Given the description of an element on the screen output the (x, y) to click on. 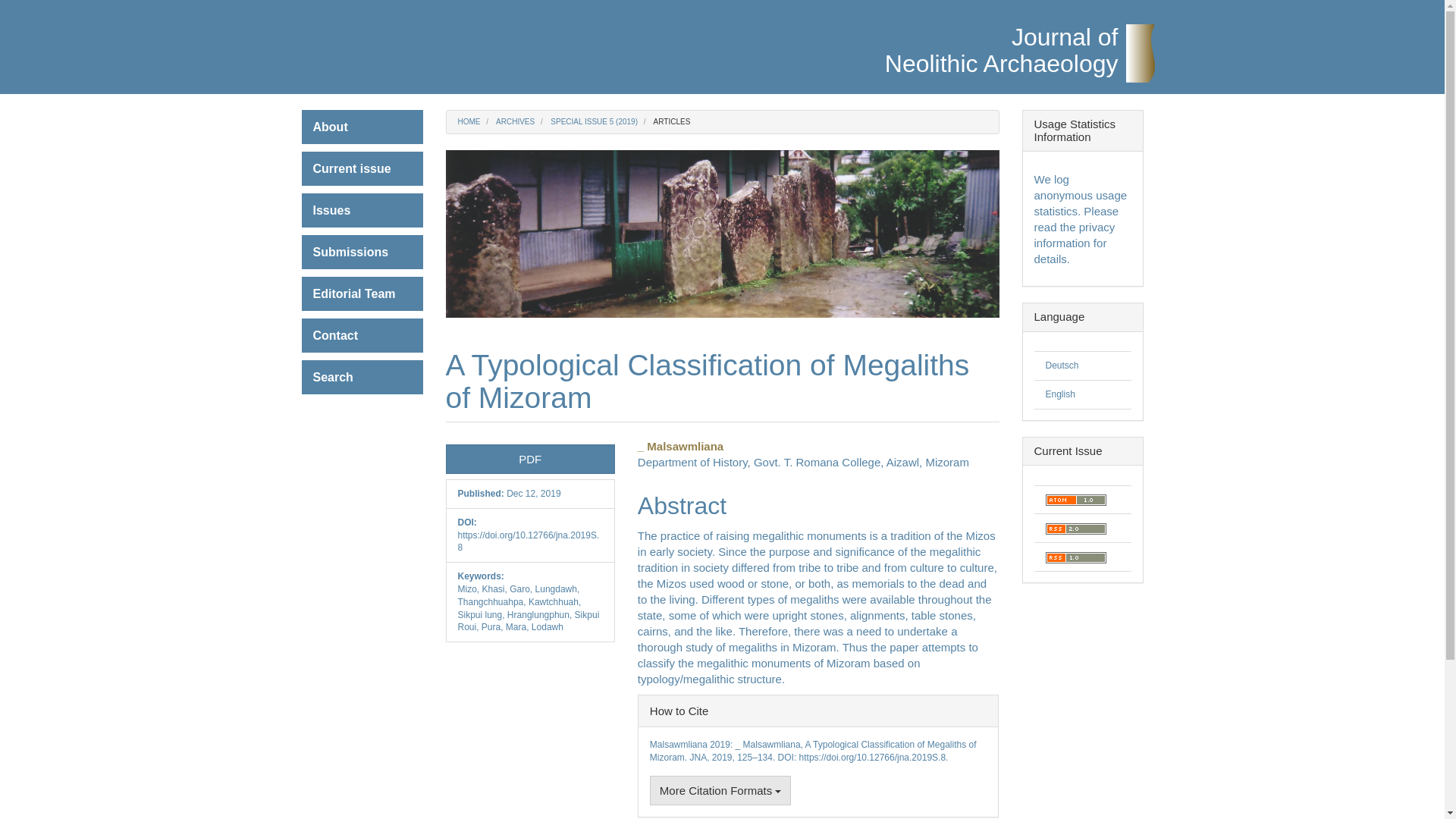
PDF (529, 459)
More Citation Formats (720, 790)
Deutsch (1061, 365)
About (362, 126)
Issues (362, 210)
Submissions (362, 252)
Contact (362, 335)
English (1059, 394)
privacy information (1001, 17)
Current issue (1074, 234)
ARCHIVES (362, 168)
Editorial Team (515, 121)
Search (362, 293)
HOME (362, 376)
